Given the description of an element on the screen output the (x, y) to click on. 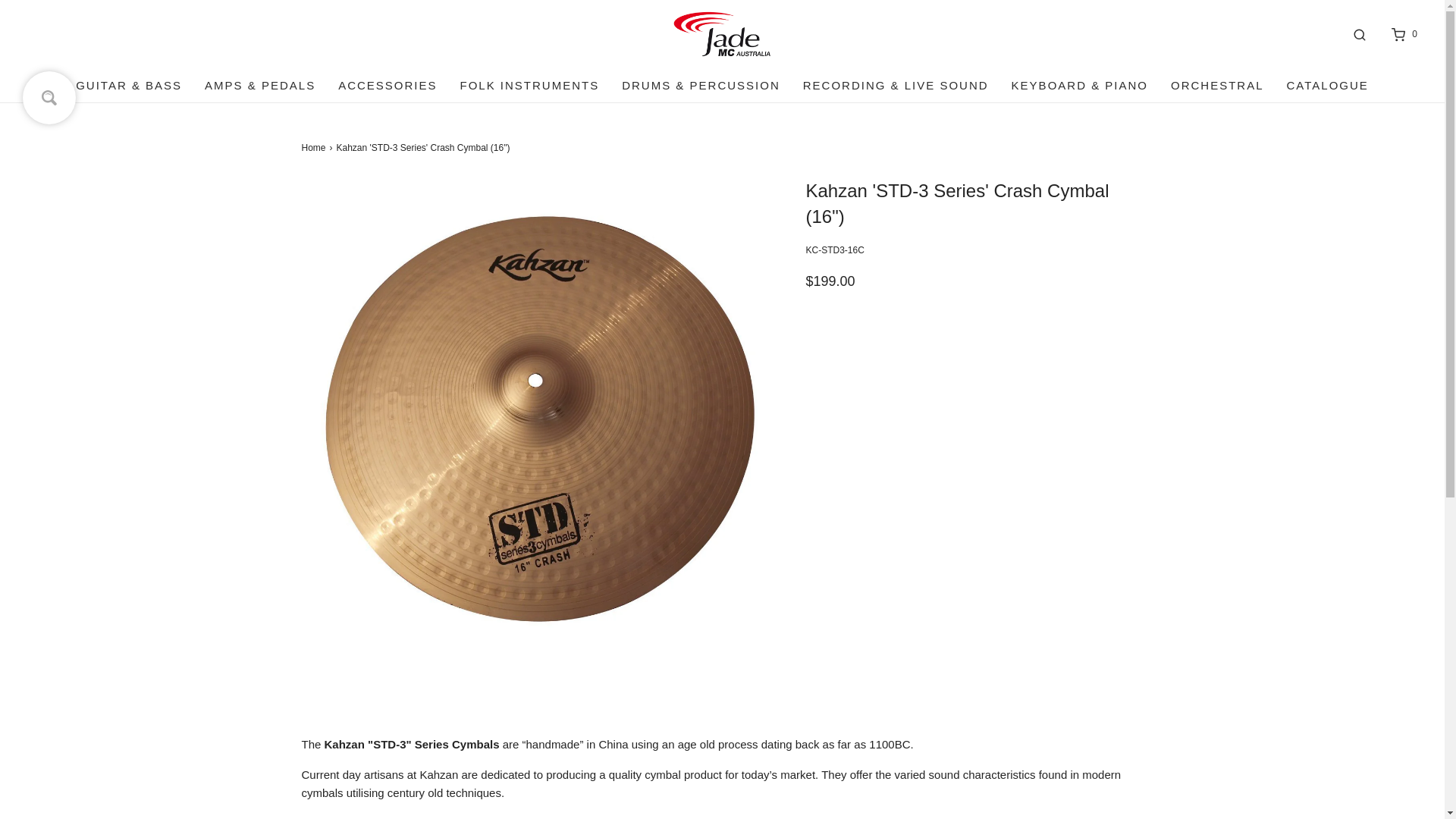
ORCHESTRAL (1216, 85)
0 (1403, 34)
Back to the frontpage (315, 147)
FOLK INSTRUMENTS (529, 85)
CATALOGUE (1327, 85)
Cart (1403, 34)
Search (1359, 34)
ACCESSORIES (386, 85)
